Given the description of an element on the screen output the (x, y) to click on. 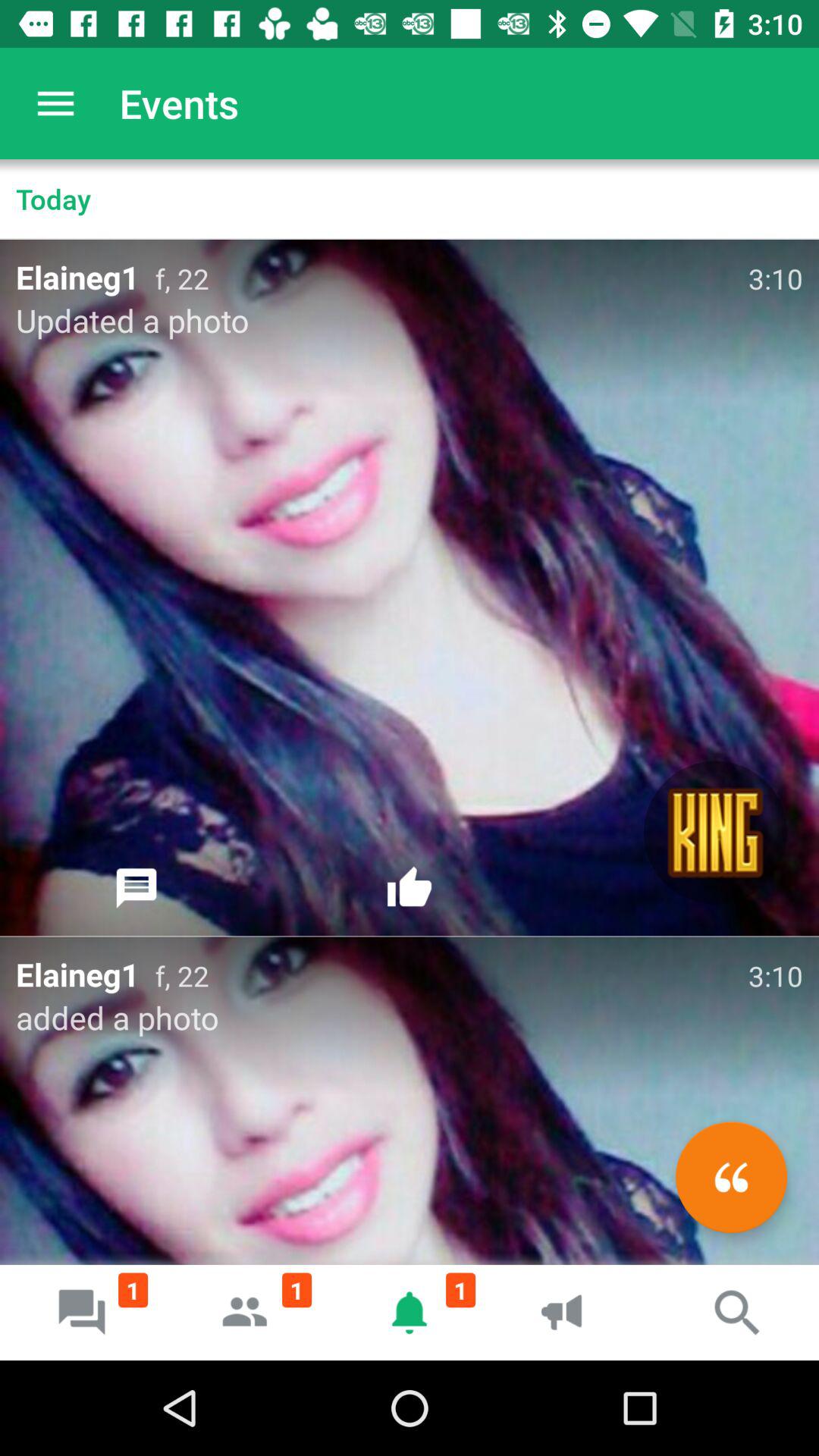
add quote (731, 1177)
